Given the description of an element on the screen output the (x, y) to click on. 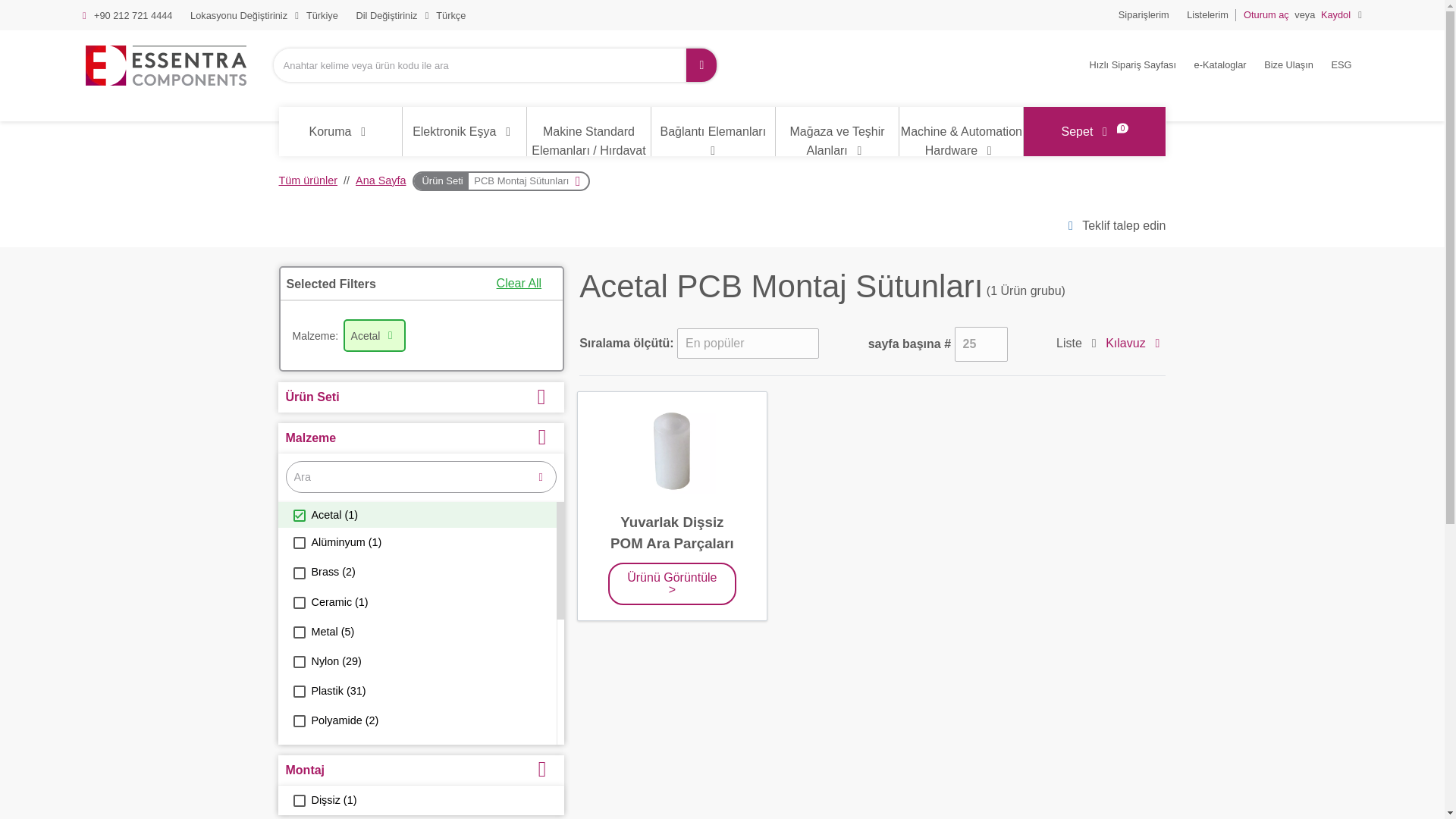
Plastik (298, 691)
Metal (298, 632)
Polyamide (298, 720)
Polyoxymethylene (298, 750)
Acetal (298, 515)
Polyvinyl Chloride (298, 809)
Ceramic (298, 603)
Nylon (298, 662)
Polystyrene (298, 779)
Brass (298, 573)
